Given the description of an element on the screen output the (x, y) to click on. 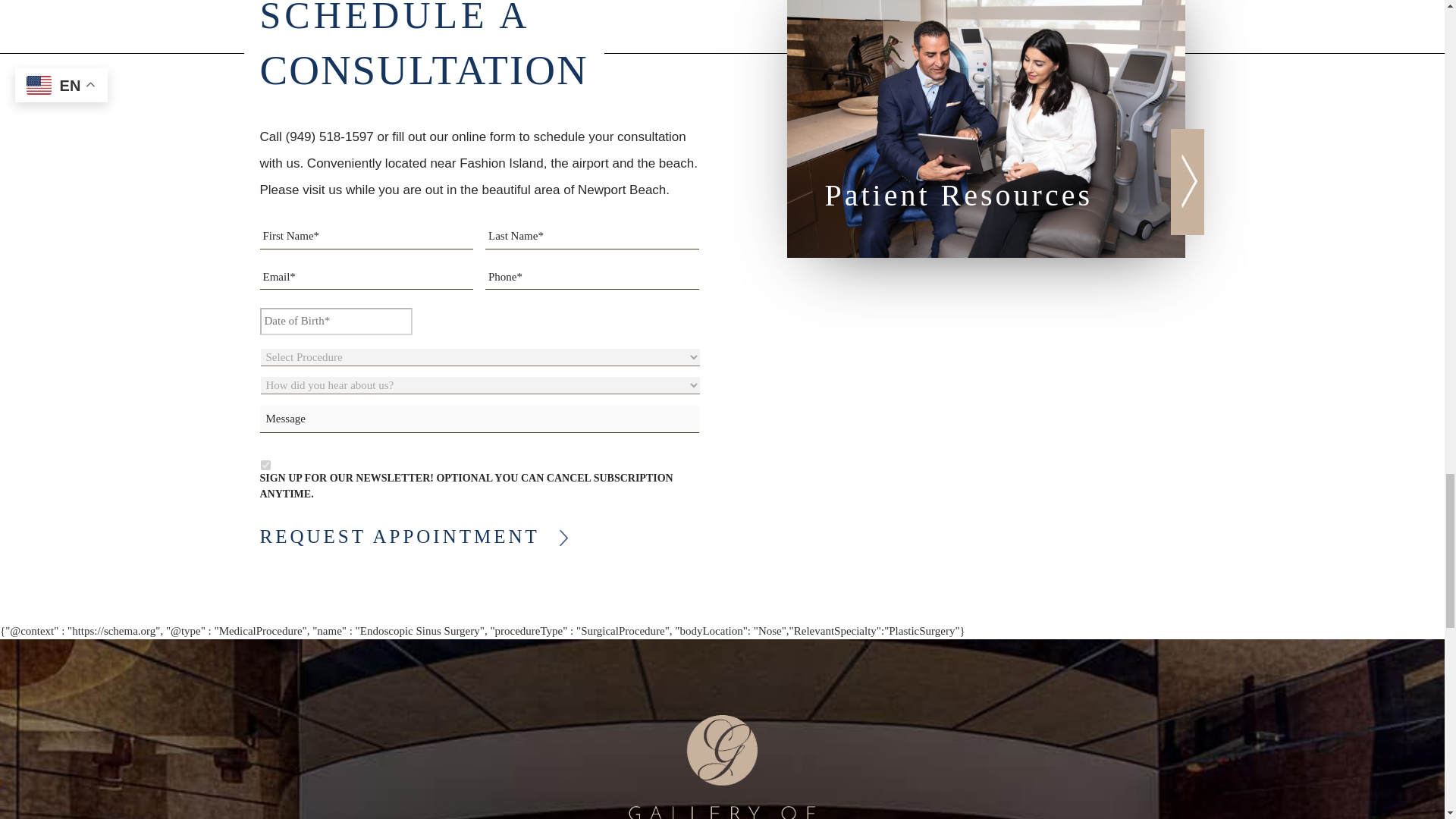
Request appointment (401, 536)
1 (265, 465)
